Given the description of an element on the screen output the (x, y) to click on. 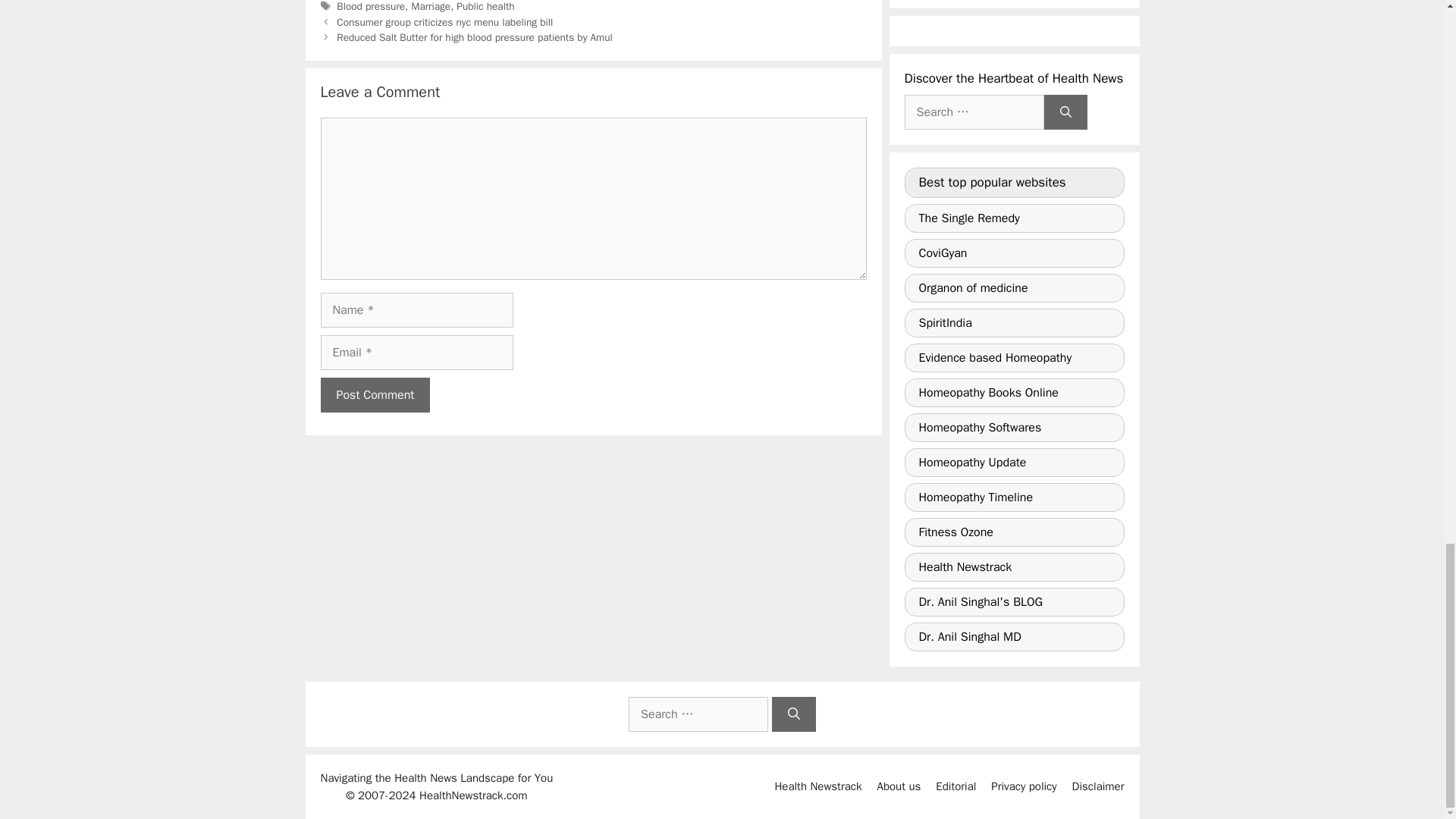
Resource on Homeopathy principles (1014, 287)
Marriage (429, 6)
Covid-19 and Health (1014, 253)
Scientific evidence on Homeopathy (1014, 357)
Post Comment (374, 394)
Remedy portraits from homeopathic medicines (1014, 217)
Comprehensive health portal (1014, 322)
Blood pressure (370, 6)
Consumer group criticizes nyc menu labeling bill (444, 21)
Public health (485, 6)
Search for: (973, 112)
Reduced Salt Butter for high blood pressure patients by Amul (474, 37)
Online Homeopathy books (1014, 392)
